Given the description of an element on the screen output the (x, y) to click on. 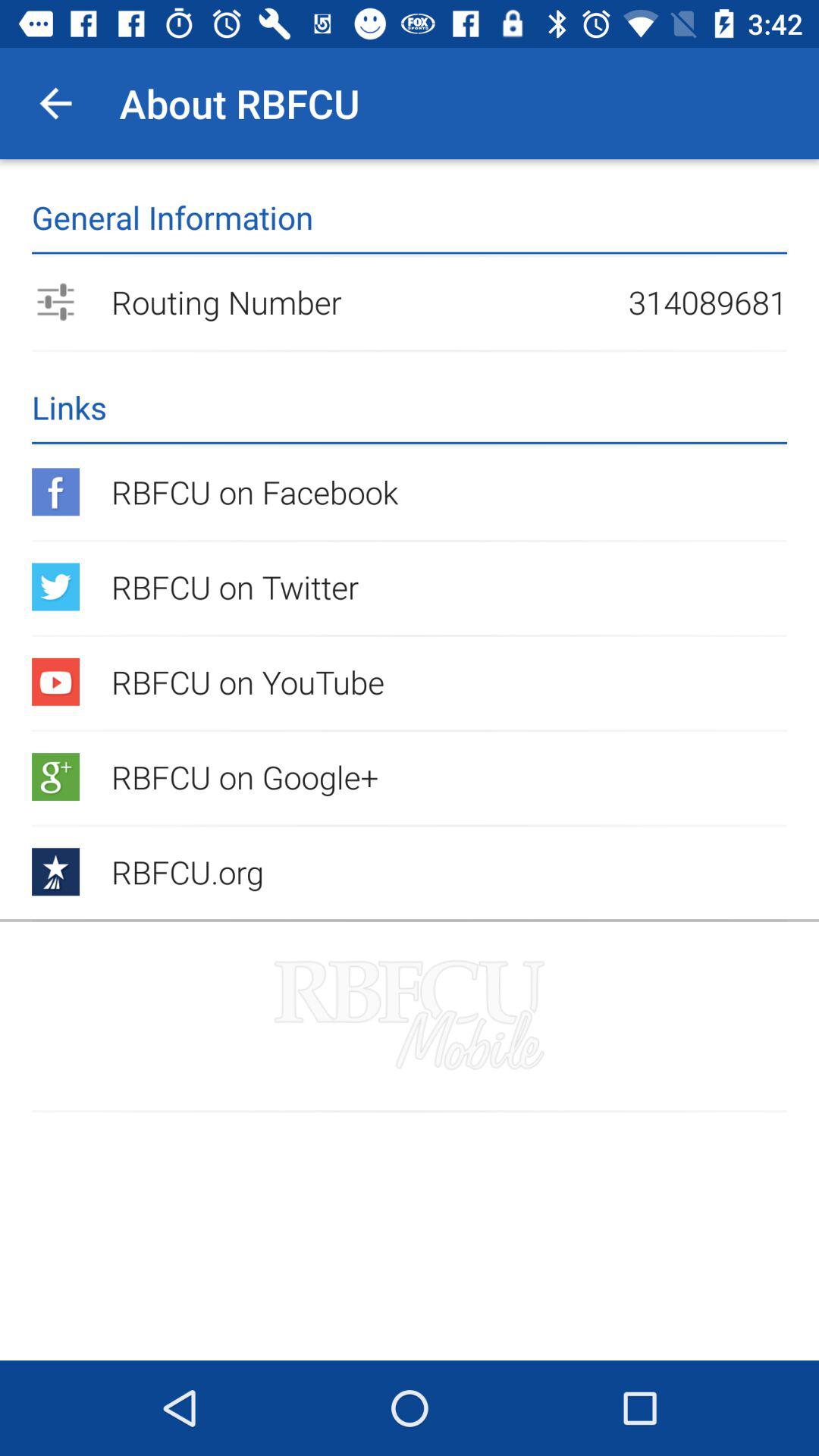
launch the app to the left of the about rbfcu app (55, 103)
